Given the description of an element on the screen output the (x, y) to click on. 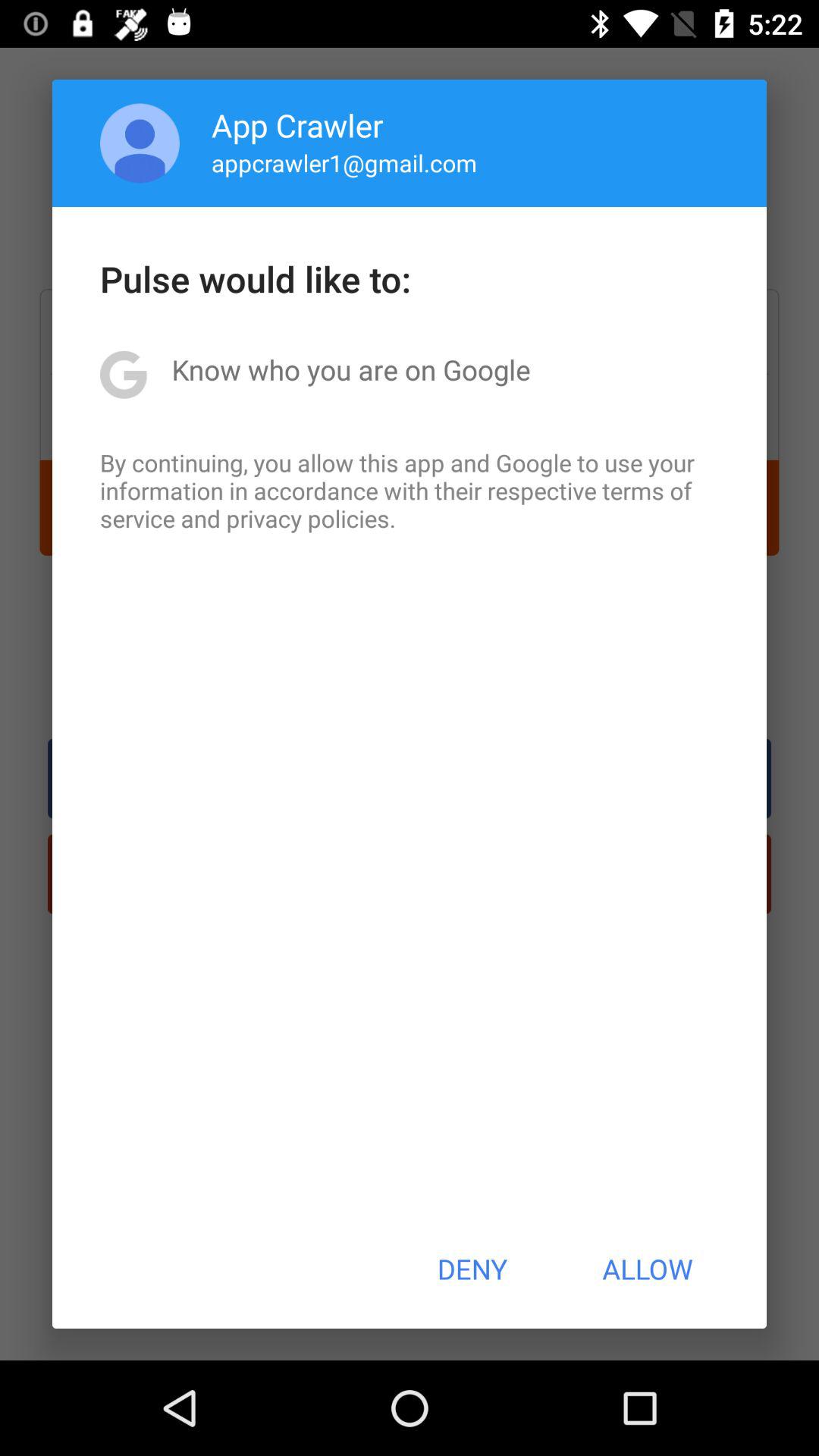
tap icon below the app crawler (344, 162)
